Given the description of an element on the screen output the (x, y) to click on. 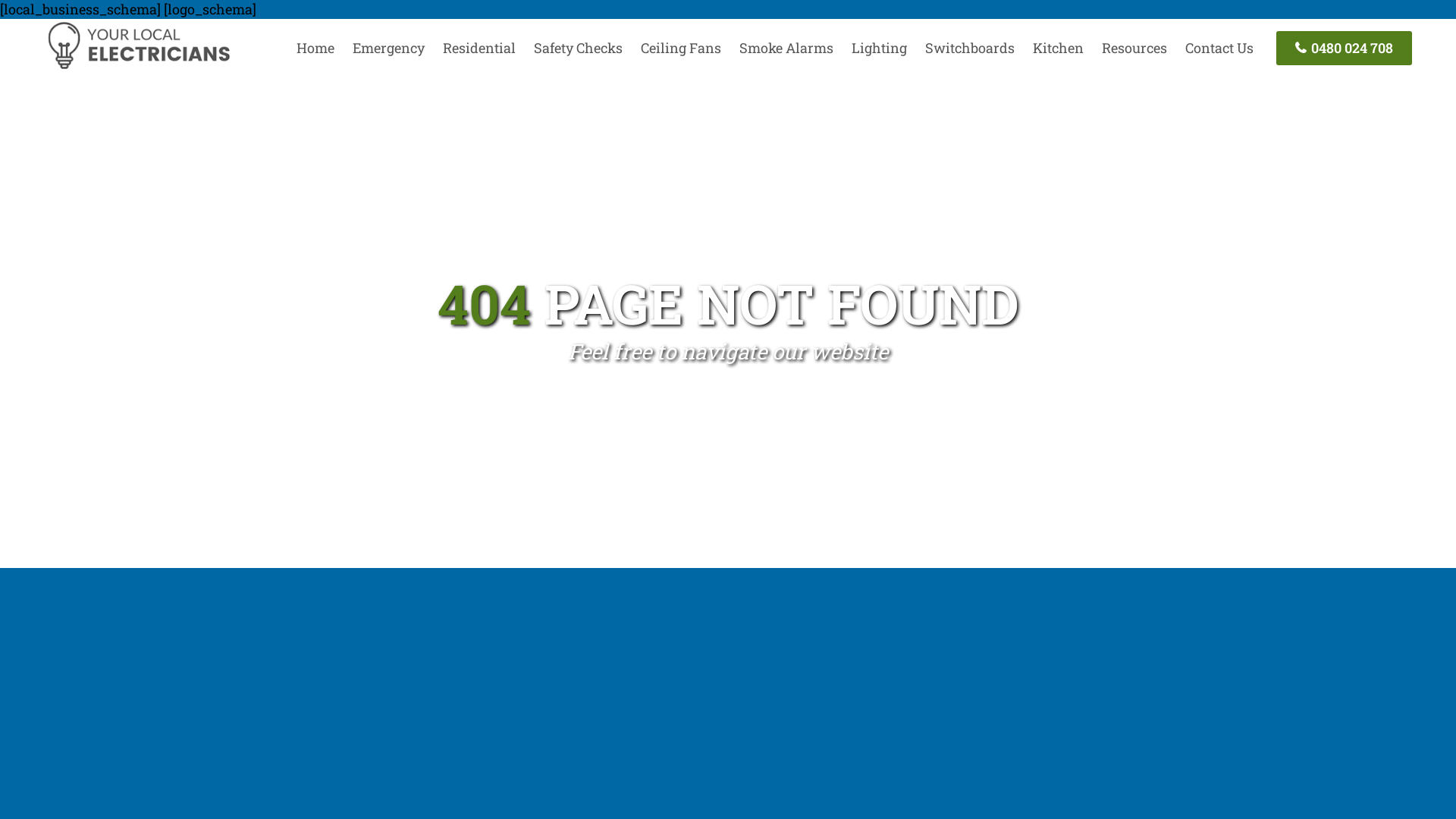
0480 024 708 Element type: text (1344, 48)
Electricians Element type: hover (137, 66)
Smoke Alarms Element type: text (785, 47)
Home Element type: text (315, 47)
Switchboards Element type: text (969, 47)
Emergency Element type: text (388, 47)
Residential Element type: text (479, 47)
Safety Checks Element type: text (578, 47)
Kitchen Element type: text (1058, 47)
Resources Element type: text (1134, 47)
Lighting Element type: text (879, 47)
Contact Us Element type: text (1219, 47)
Ceiling Fans Element type: text (680, 47)
